Given the description of an element on the screen output the (x, y) to click on. 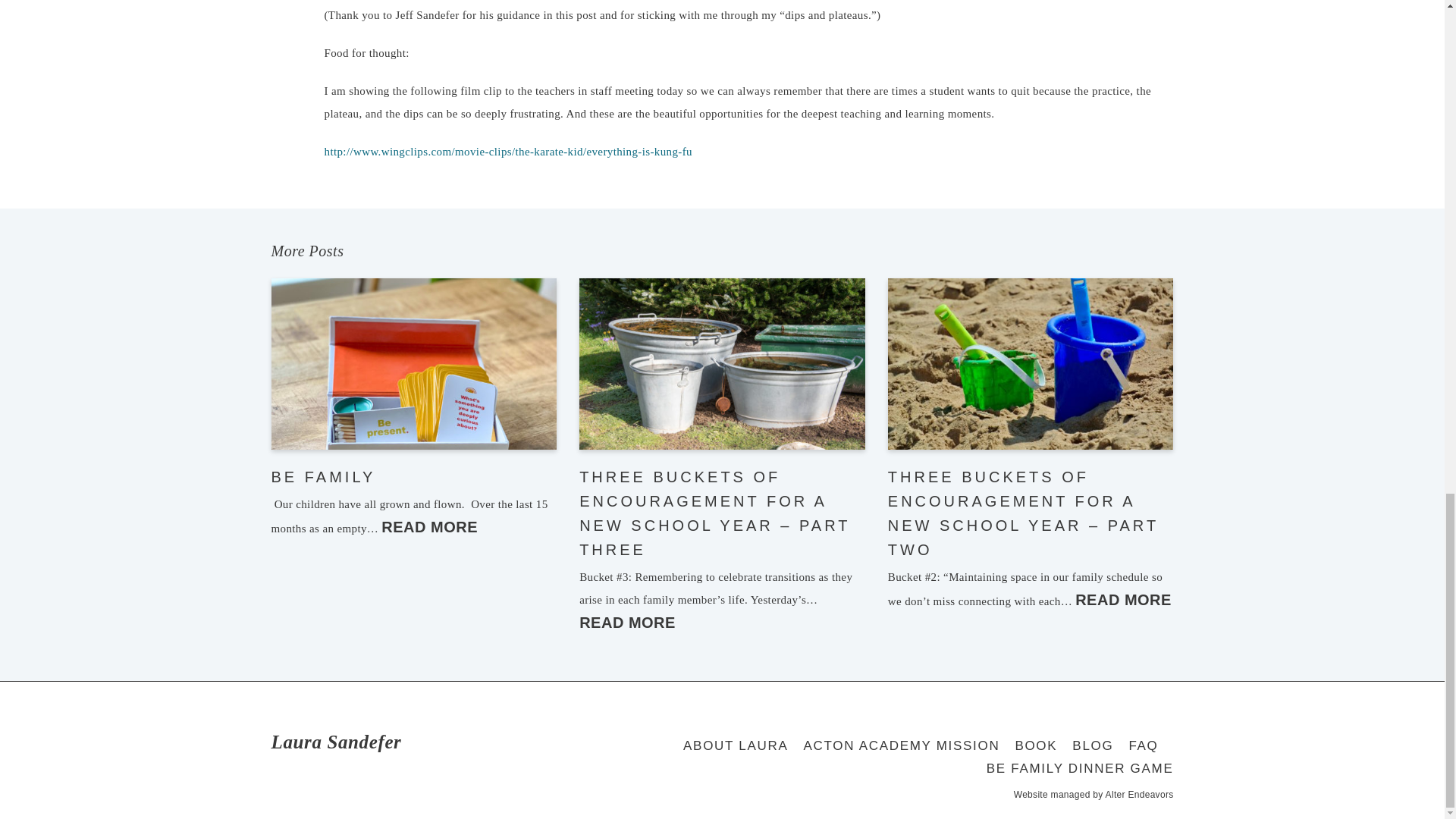
Alter Endeavors (1139, 794)
BLOG (1092, 745)
BE FAMILY (322, 476)
ABOUT LAURA (734, 745)
FAQ (1142, 745)
Book (1035, 745)
Acton Academy Mission (900, 745)
READ MORE (627, 622)
ACTON ACADEMY MISSION (900, 745)
READ MORE (1123, 599)
Blog (1092, 745)
READ MORE (429, 526)
Be Family Dinner Game (1080, 768)
BOOK (1035, 745)
BE FAMILY DINNER GAME (1080, 768)
